Given the description of an element on the screen output the (x, y) to click on. 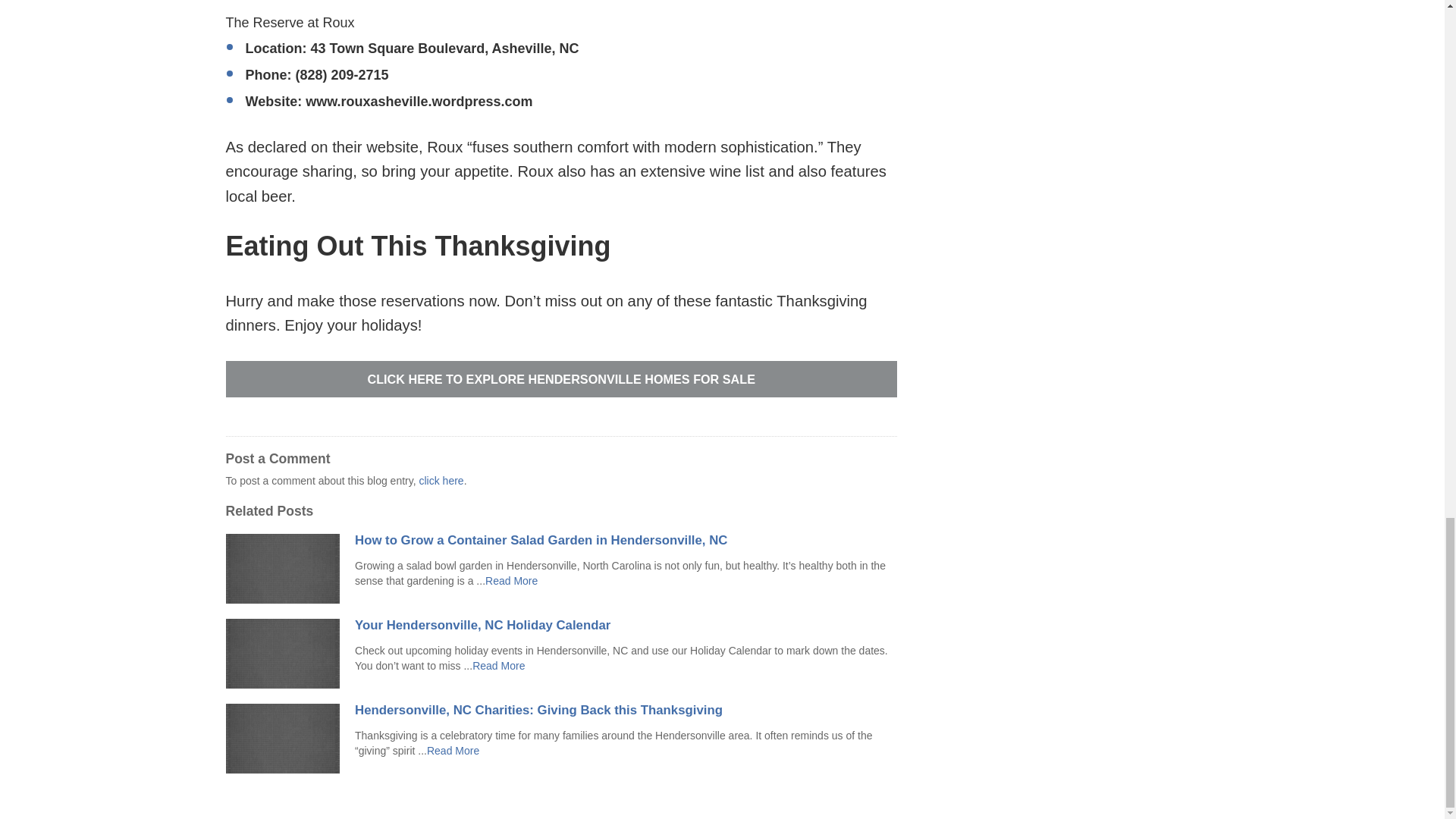
Your Hendersonville, NC Holiday Calendar (625, 625)
How to Grow a Container Salad Garden in Hendersonville, NC (625, 540)
Hendersonville, NC Charities: Giving Back this Thanksgiving (625, 710)
